Given the description of an element on the screen output the (x, y) to click on. 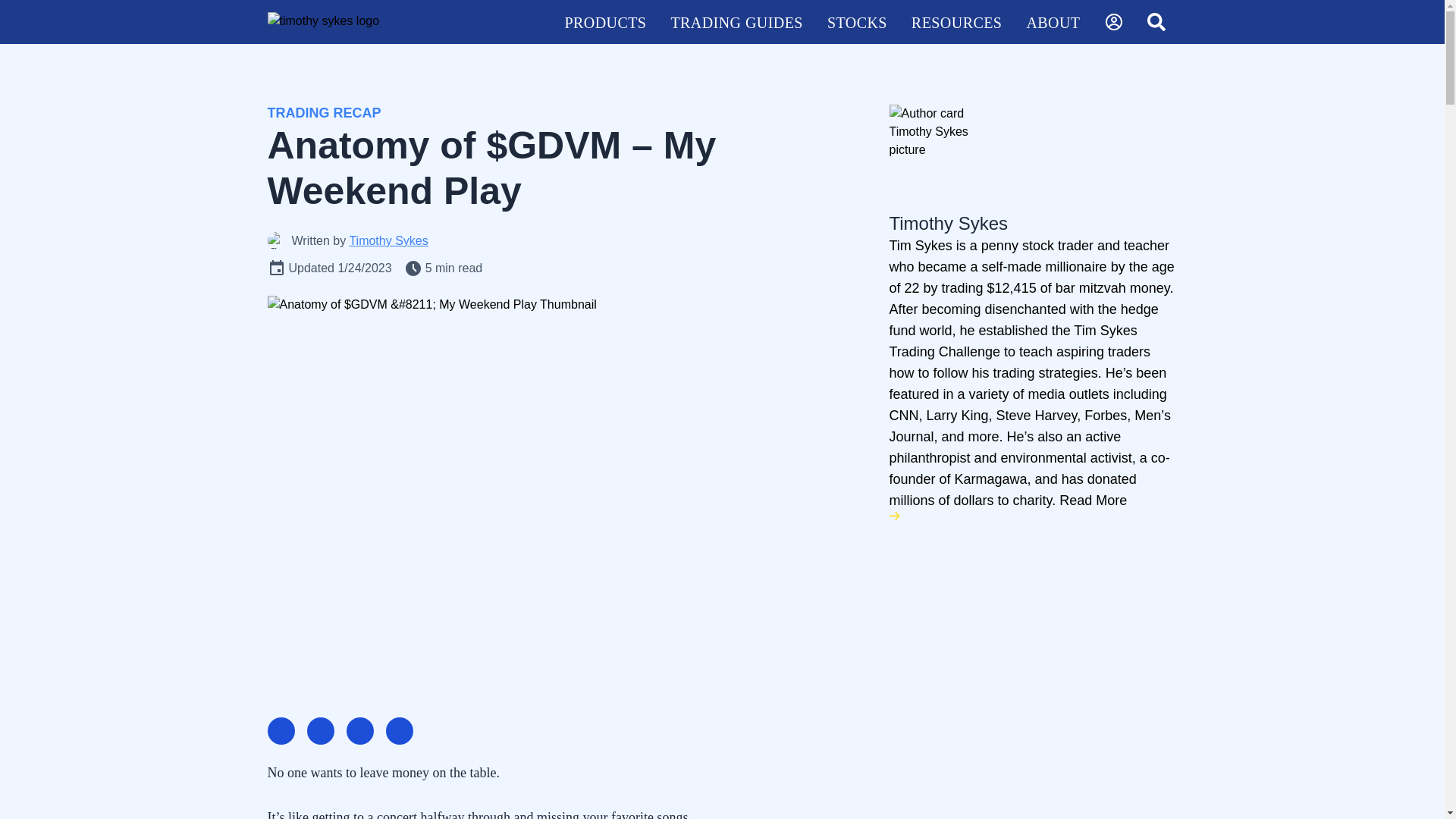
PRODUCTS (604, 21)
TRADING GUIDES (735, 21)
